Given the description of an element on the screen output the (x, y) to click on. 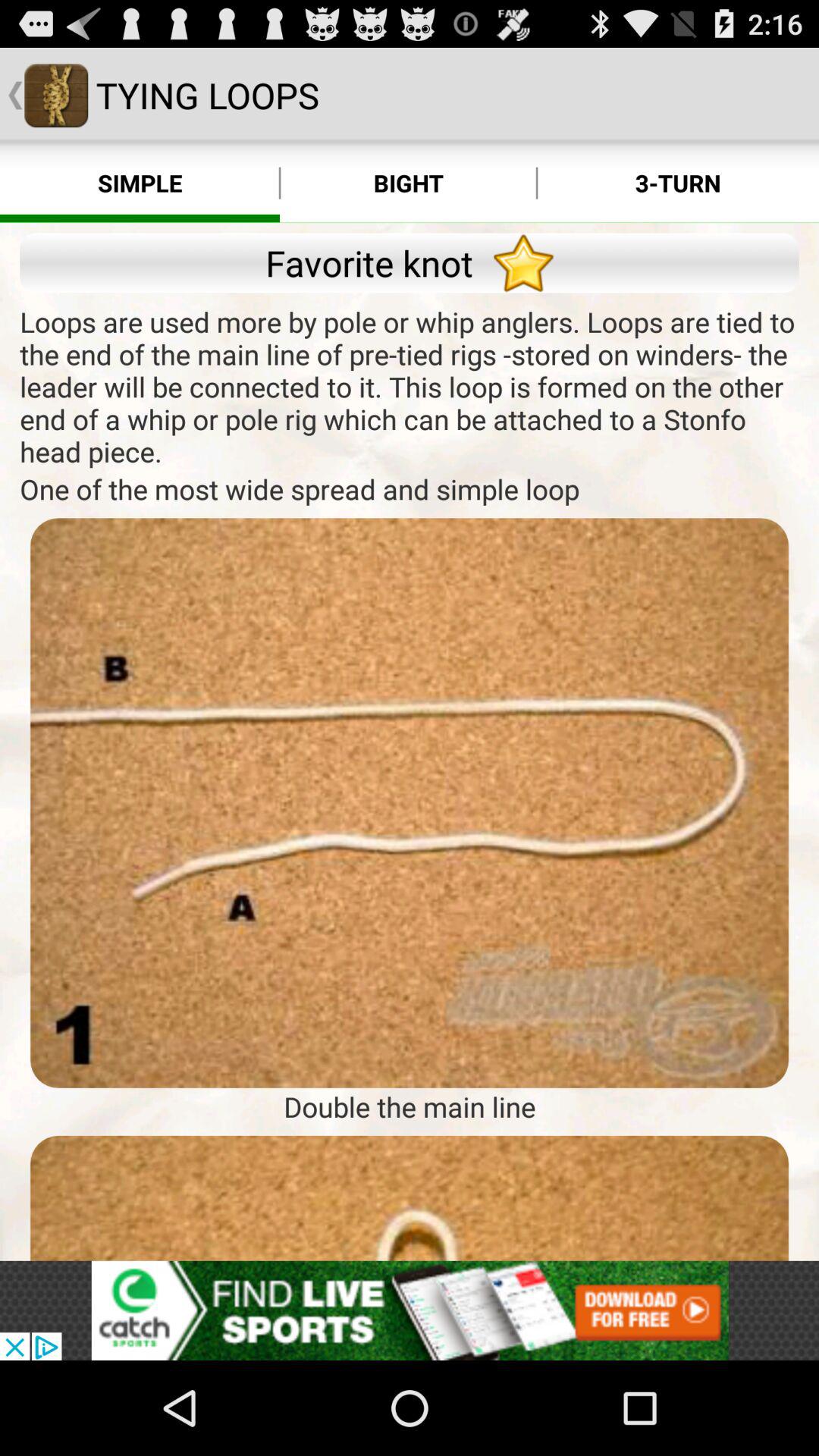
open advertisement (409, 1310)
